Given the description of an element on the screen output the (x, y) to click on. 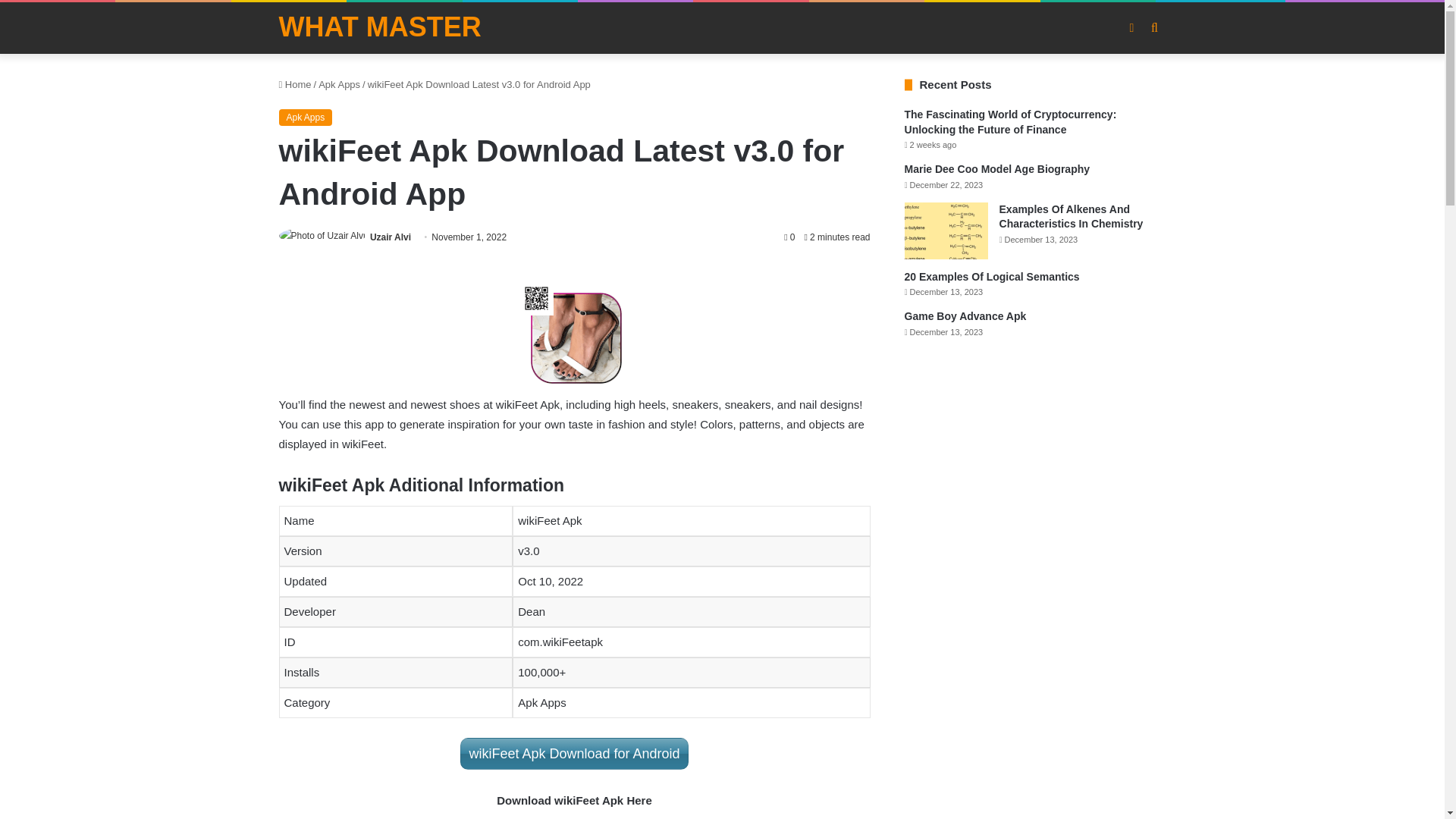
Home (295, 84)
Apk Apps (338, 84)
Apk Apps (306, 117)
wikiFeet Apk Download for Android (573, 753)
WHAT MASTER (380, 26)
Uzair Alvi (389, 236)
Uzair Alvi (389, 236)
WHAT MASTER (380, 26)
